Given the description of an element on the screen output the (x, y) to click on. 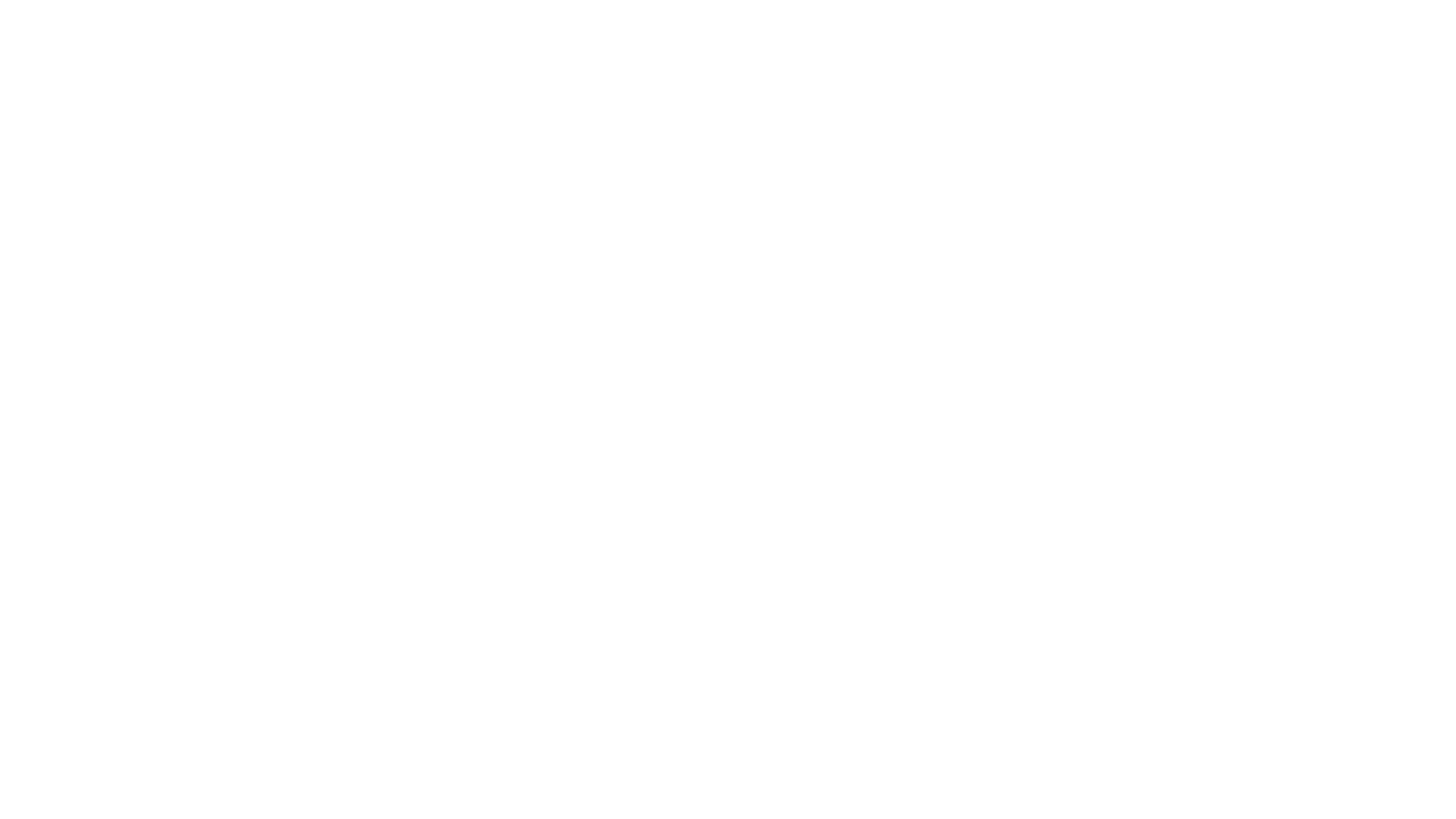
Cloudflare Element type: text (798, 799)
